Given the description of an element on the screen output the (x, y) to click on. 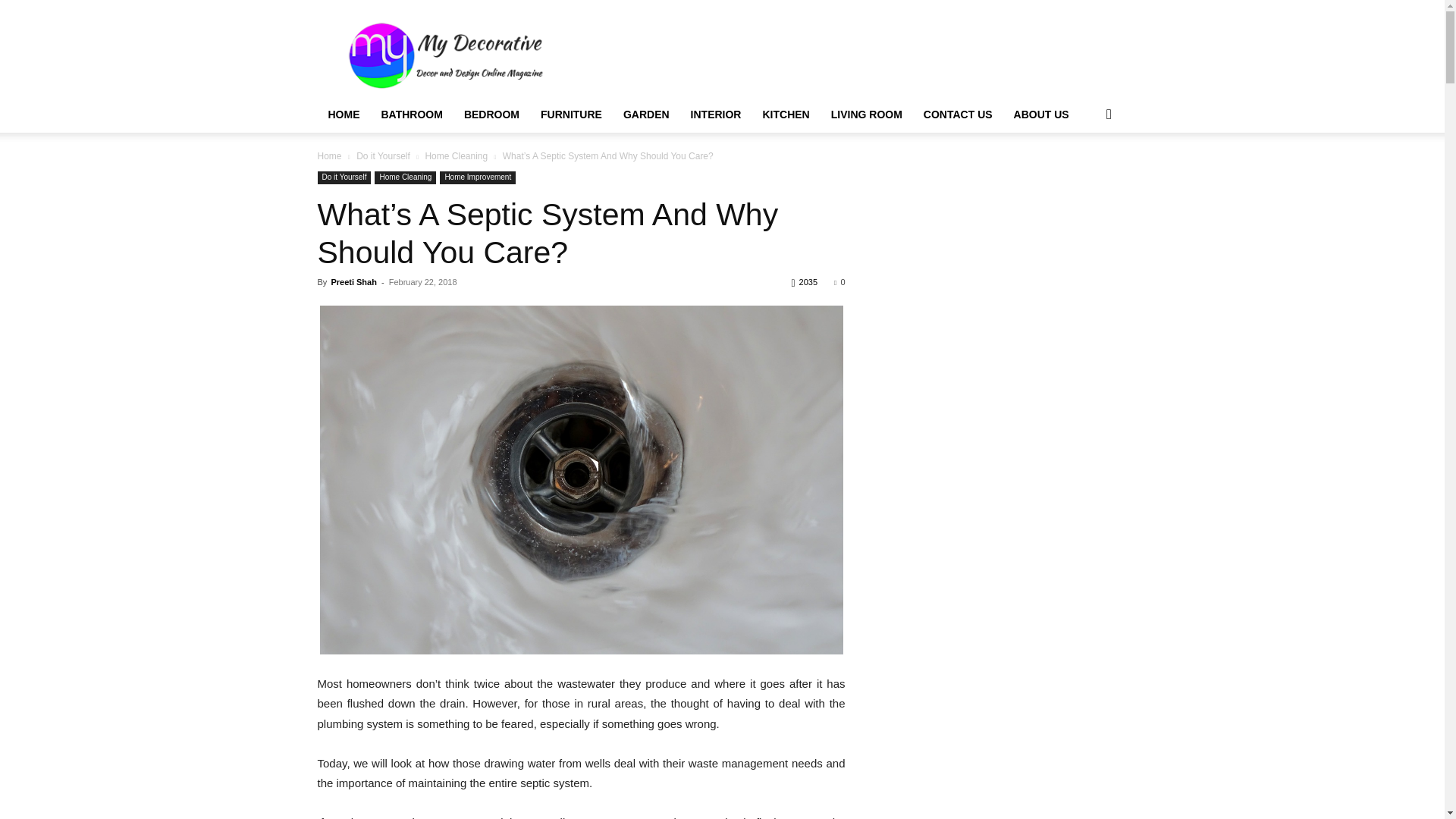
View all posts in Home Cleaning (456, 155)
Contact for Advertising or Guest Post (957, 114)
CONTACT US (957, 114)
My Decorative (343, 114)
BATHROOM (410, 114)
FURNITURE (570, 114)
ABOUT US (1041, 114)
Do it Yourself (344, 177)
KITCHEN (785, 114)
View all posts in Do it Yourself (383, 155)
